Given the description of an element on the screen output the (x, y) to click on. 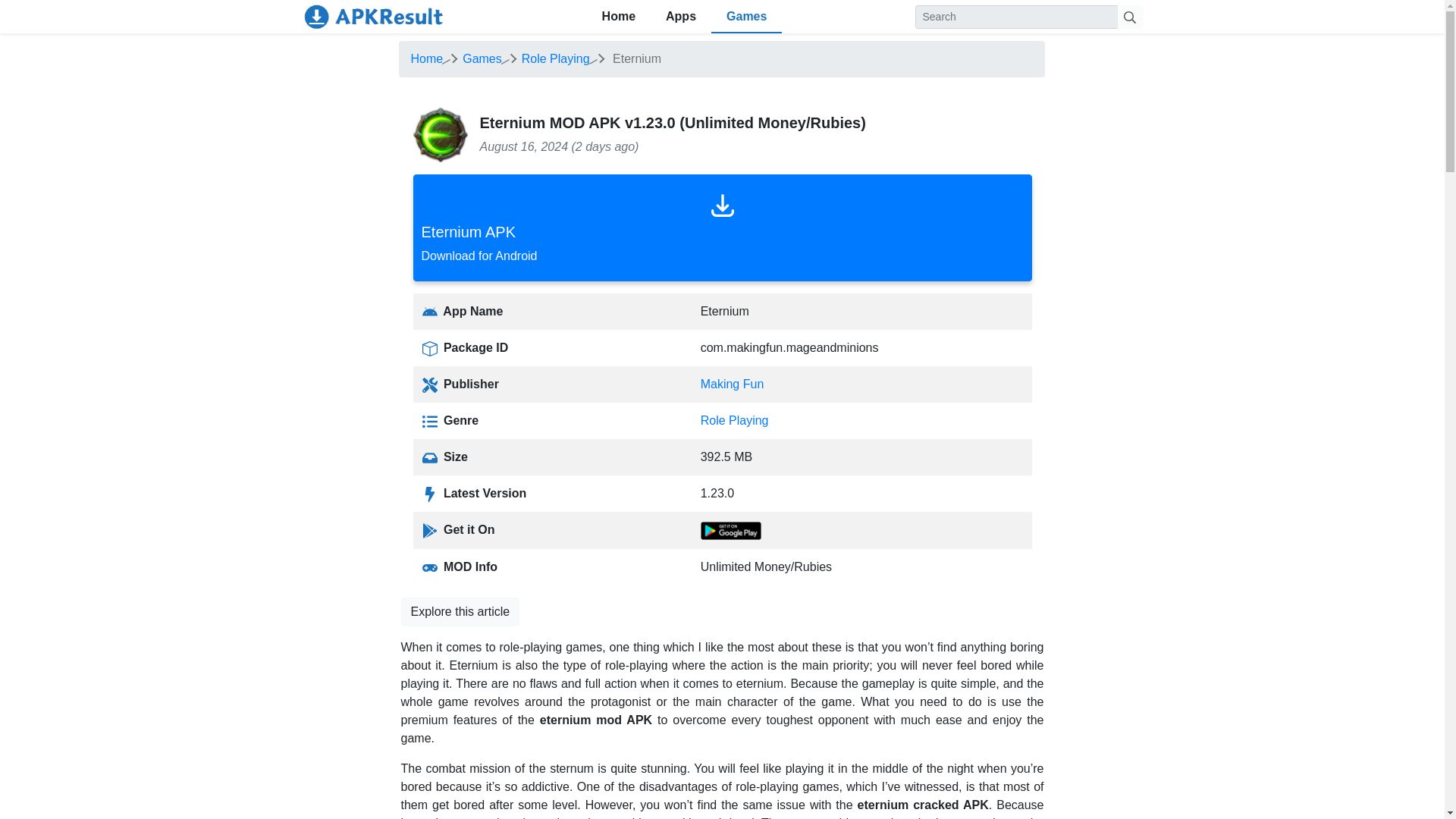
Games (482, 58)
Role Playing (734, 420)
Home (427, 58)
Role Playing (555, 58)
Making Fun (732, 383)
Home (721, 227)
Explore this article (618, 16)
Apps (459, 611)
